Given the description of an element on the screen output the (x, y) to click on. 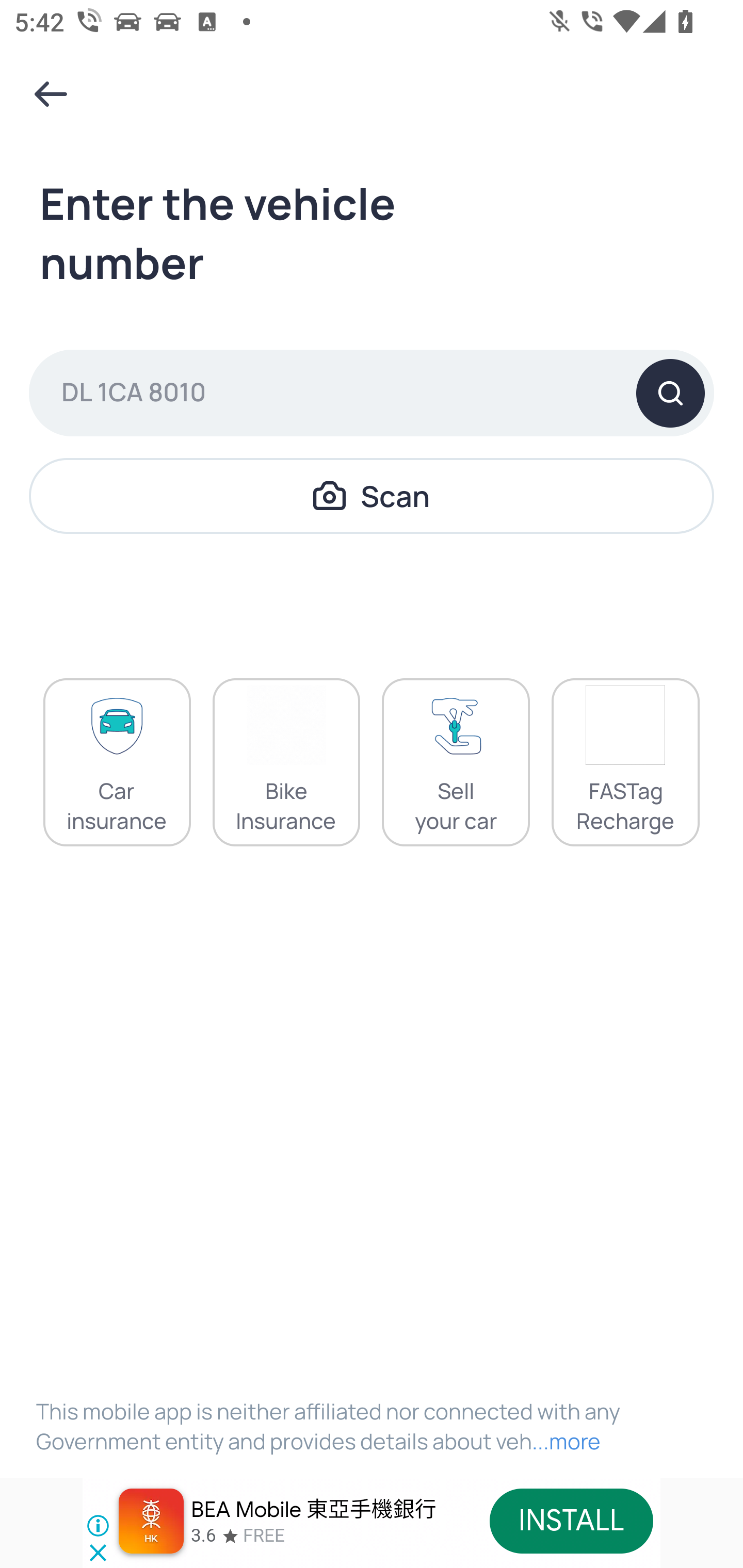
Navigate up (50, 93)
DL 1CA 8010 (371, 392)
Scan (371, 495)
Car
insurance (116, 762)
Bike
Insurance (286, 762)
Sell
your car (455, 762)
FASTag Recharge (625, 762)
INSTALL (570, 1520)
BEA Mobile 東亞手機銀行 (314, 1509)
3.6 (203, 1535)
FREE (263, 1535)
